Given the description of an element on the screen output the (x, y) to click on. 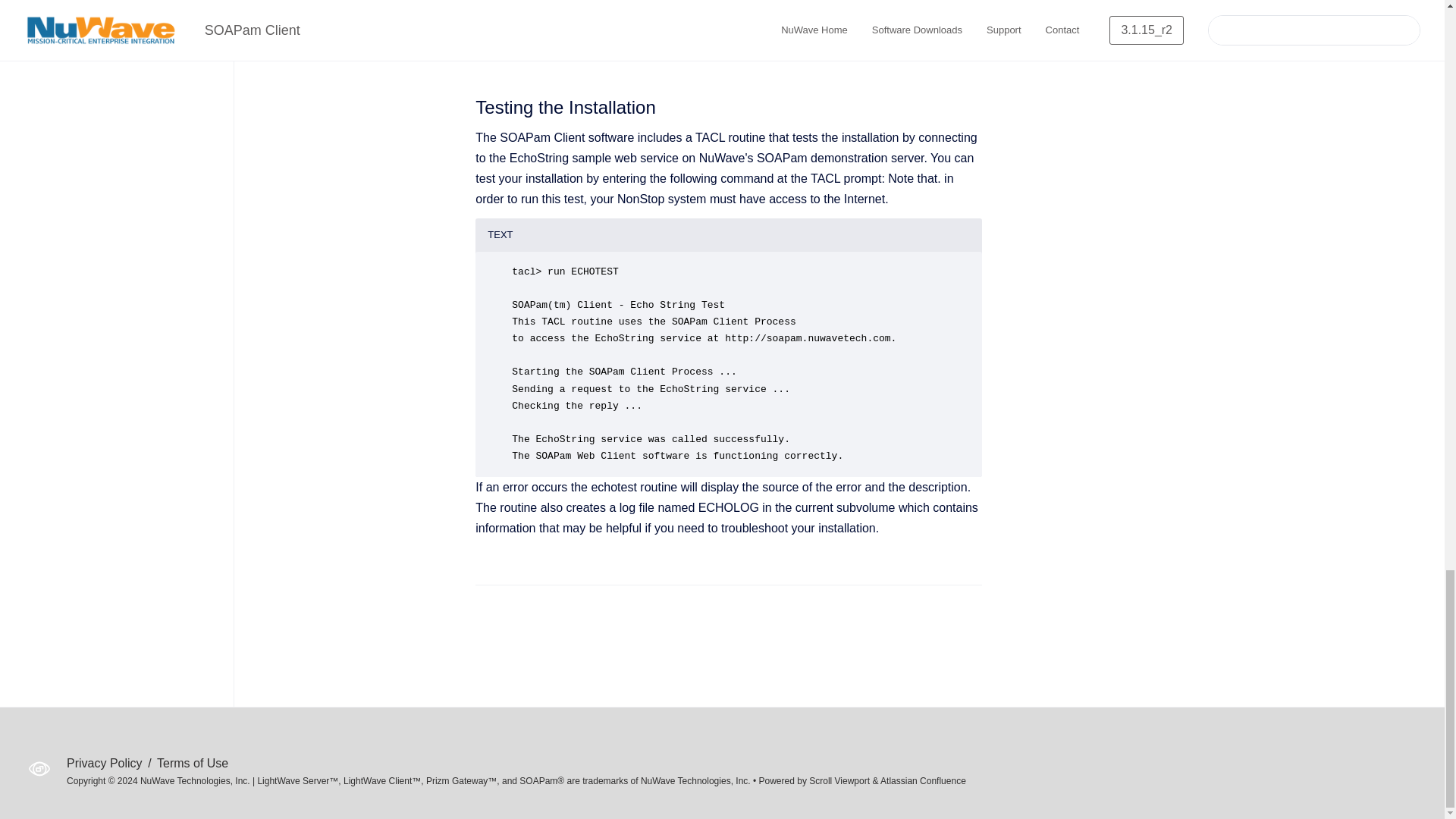
Product Licensing (796, 49)
Privacy Policy (105, 762)
Atlassian Confluence (923, 780)
Scroll Viewport (840, 780)
Terms of Use (192, 762)
